Given the description of an element on the screen output the (x, y) to click on. 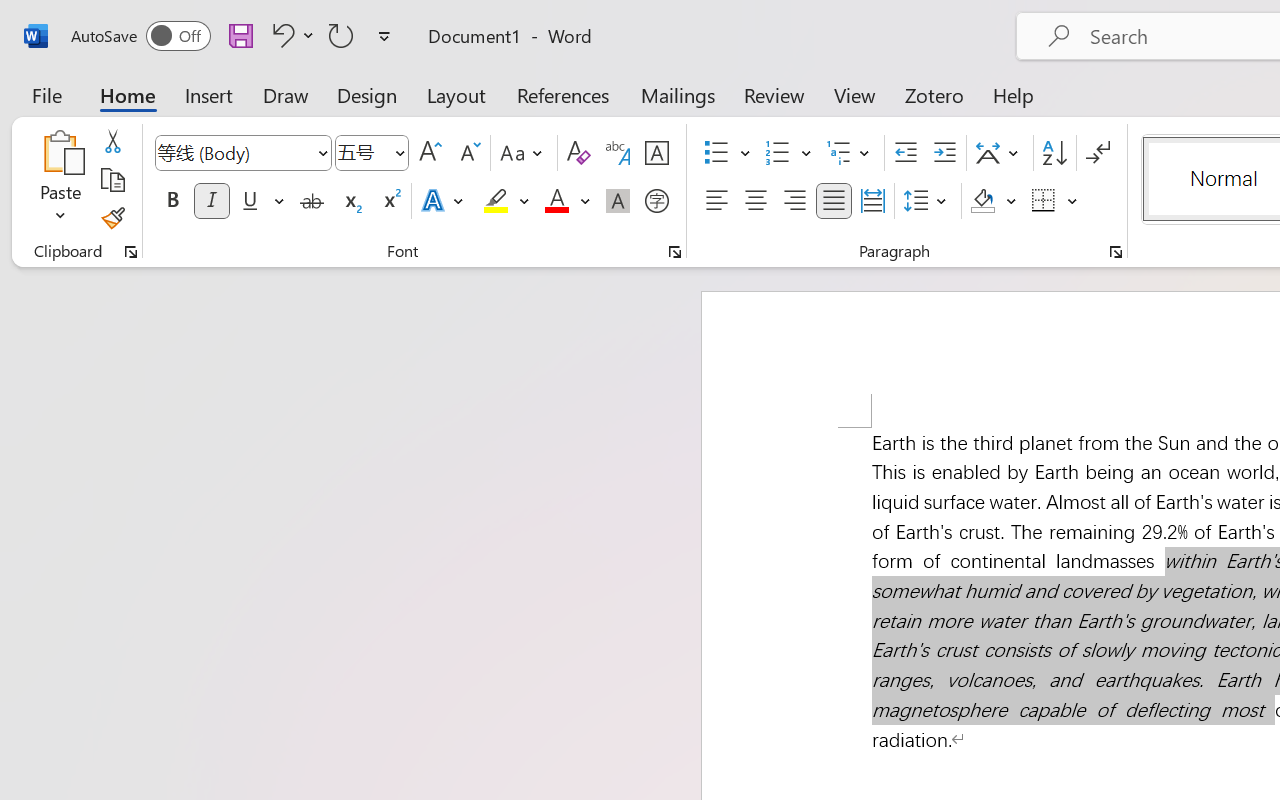
Character Border (656, 153)
Copy (112, 179)
Align Left (716, 201)
Text Effects and Typography (444, 201)
Increase Indent (944, 153)
Center (756, 201)
Open (399, 152)
Subscript (350, 201)
Undo Italic (290, 35)
Undo Italic (280, 35)
